Given the description of an element on the screen output the (x, y) to click on. 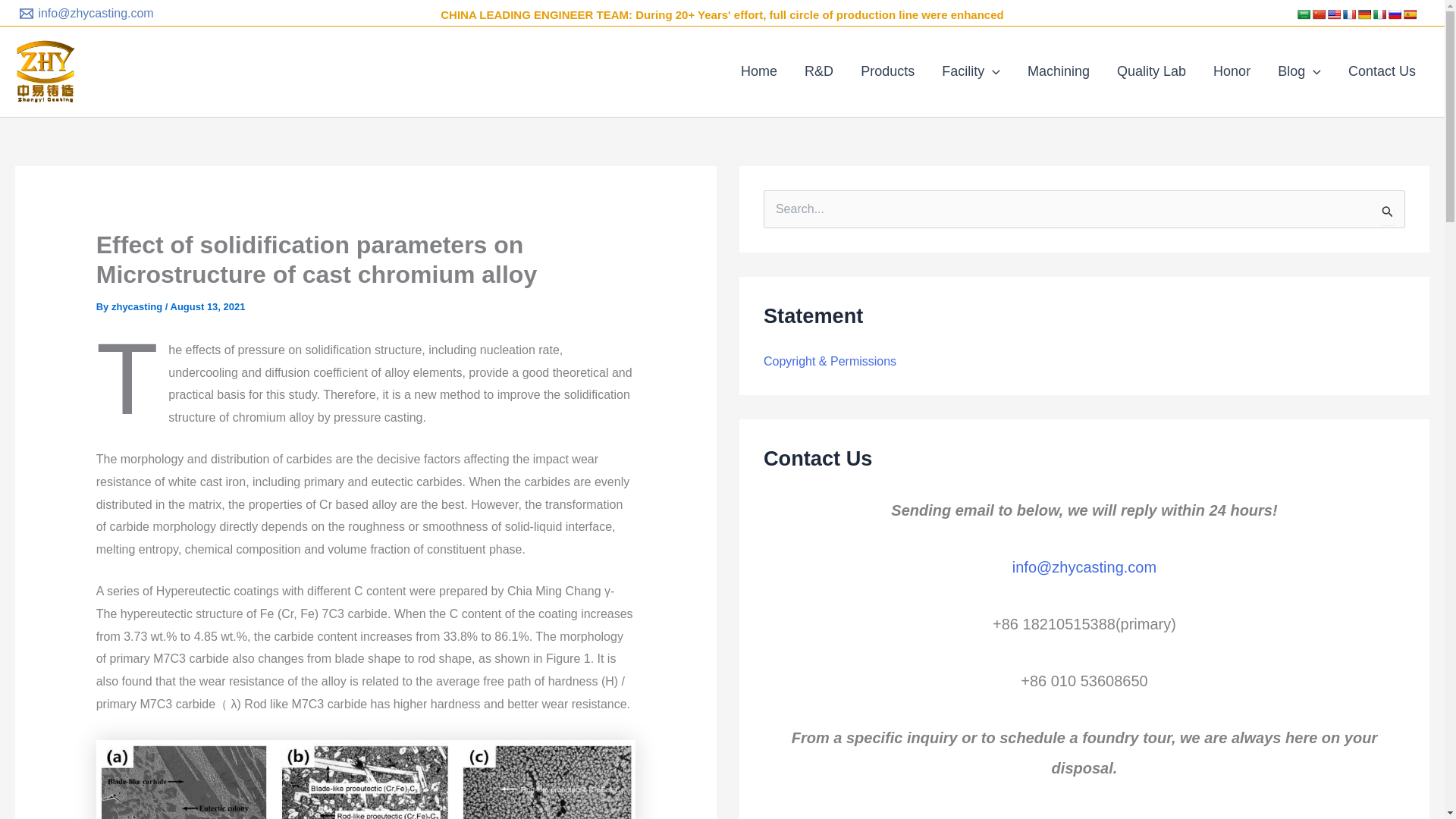
Italian (1379, 14)
Products (887, 71)
Facility (970, 71)
Machining (1058, 71)
French (1348, 14)
Russian (1393, 14)
English (1333, 14)
Contact Us (1382, 71)
Spanish (1409, 14)
German (1363, 14)
